Given the description of an element on the screen output the (x, y) to click on. 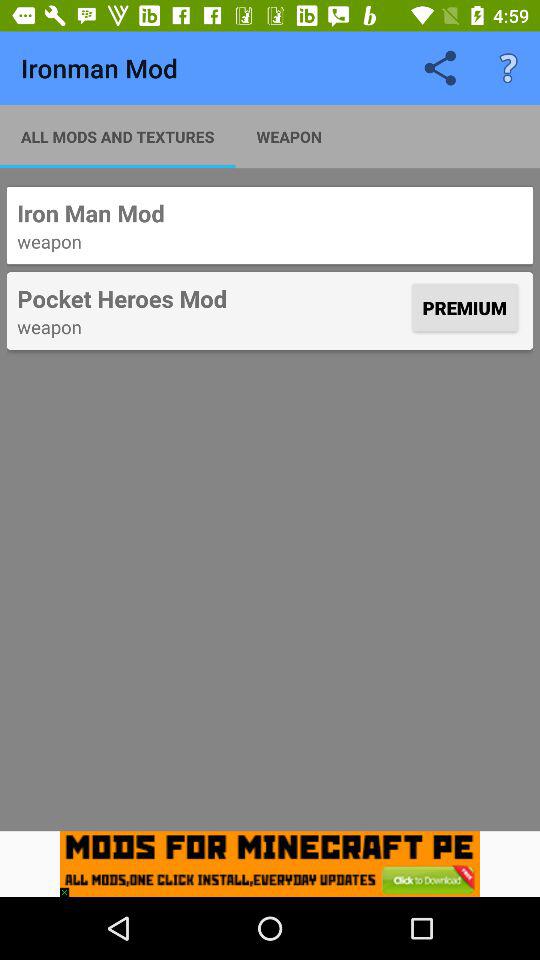
tap icon above weapon icon (211, 298)
